Given the description of an element on the screen output the (x, y) to click on. 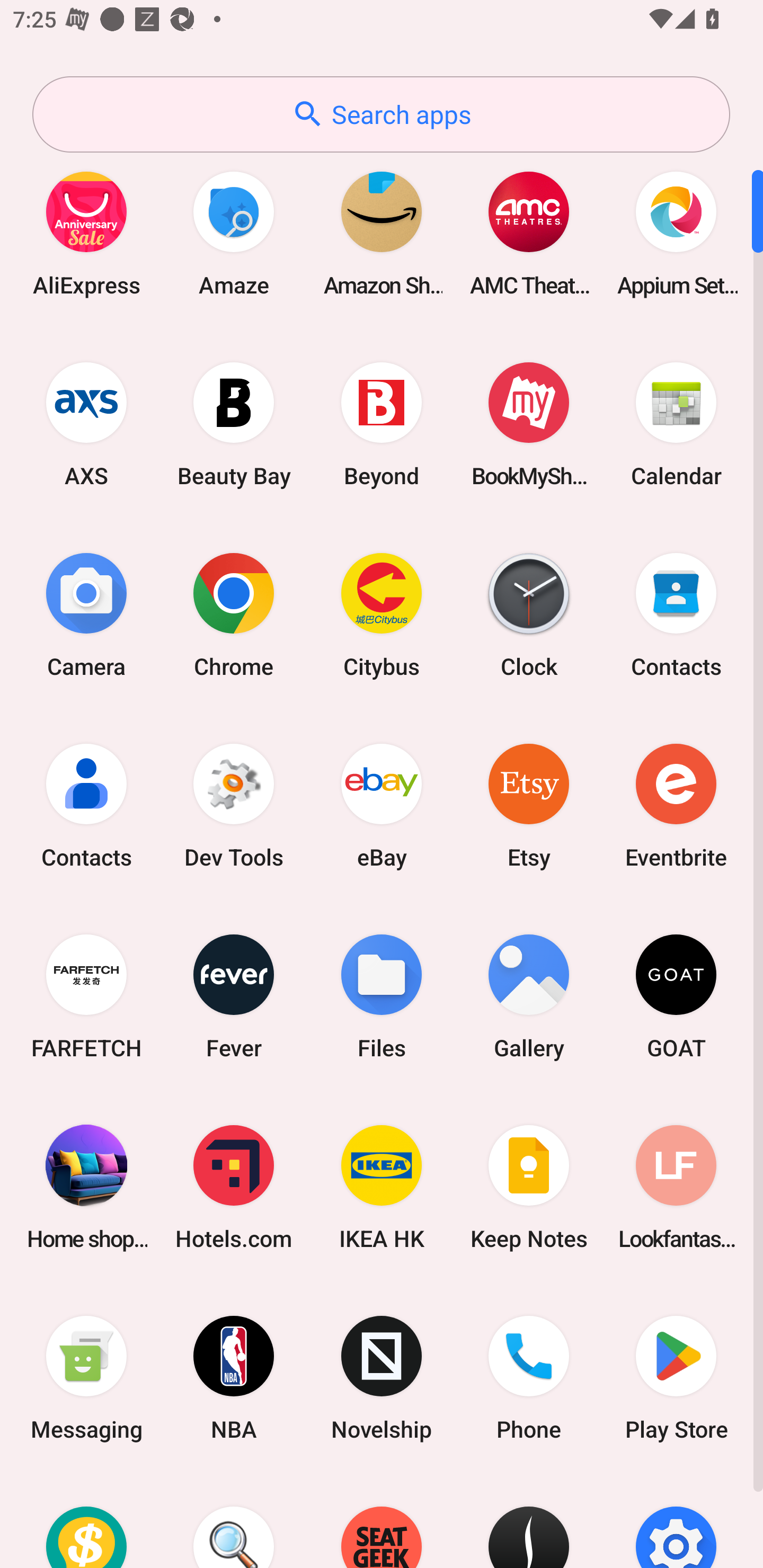
  Search apps (381, 114)
AliExpress (86, 233)
Amaze (233, 233)
Amazon Shopping (381, 233)
AMC Theatres (528, 233)
Appium Settings (676, 233)
AXS (86, 424)
Beauty Bay (233, 424)
Beyond (381, 424)
BookMyShow (528, 424)
Calendar (676, 424)
Camera (86, 614)
Chrome (233, 614)
Citybus (381, 614)
Clock (528, 614)
Contacts (676, 614)
Contacts (86, 805)
Dev Tools (233, 805)
eBay (381, 805)
Etsy (528, 805)
Eventbrite (676, 805)
FARFETCH (86, 996)
Fever (233, 996)
Files (381, 996)
Gallery (528, 996)
GOAT (676, 996)
Home shopping (86, 1186)
Hotels.com (233, 1186)
IKEA HK (381, 1186)
Keep Notes (528, 1186)
Lookfantastic (676, 1186)
Messaging (86, 1377)
NBA (233, 1377)
Novelship (381, 1377)
Phone (528, 1377)
Play Store (676, 1377)
